Given the description of an element on the screen output the (x, y) to click on. 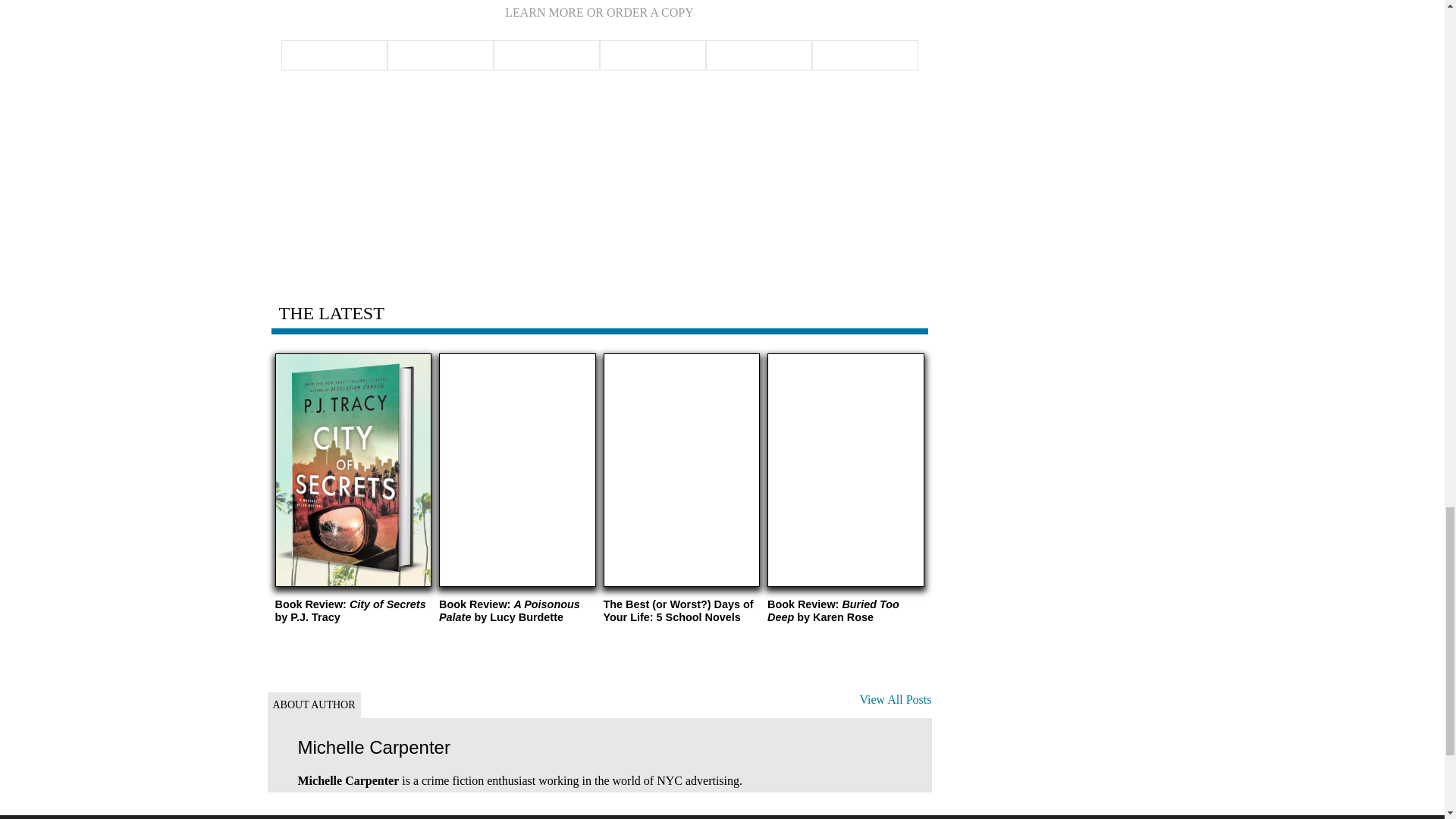
Buy Shed No Tears on Kindle (757, 55)
Buy Shed No Tears on IndieBound (545, 55)
Buy Shed No Tears on Apple (651, 55)
Buy Shed No Tears on Audible (863, 55)
Buy Shed No Tears on Amazon (334, 55)
